Given the description of an element on the screen output the (x, y) to click on. 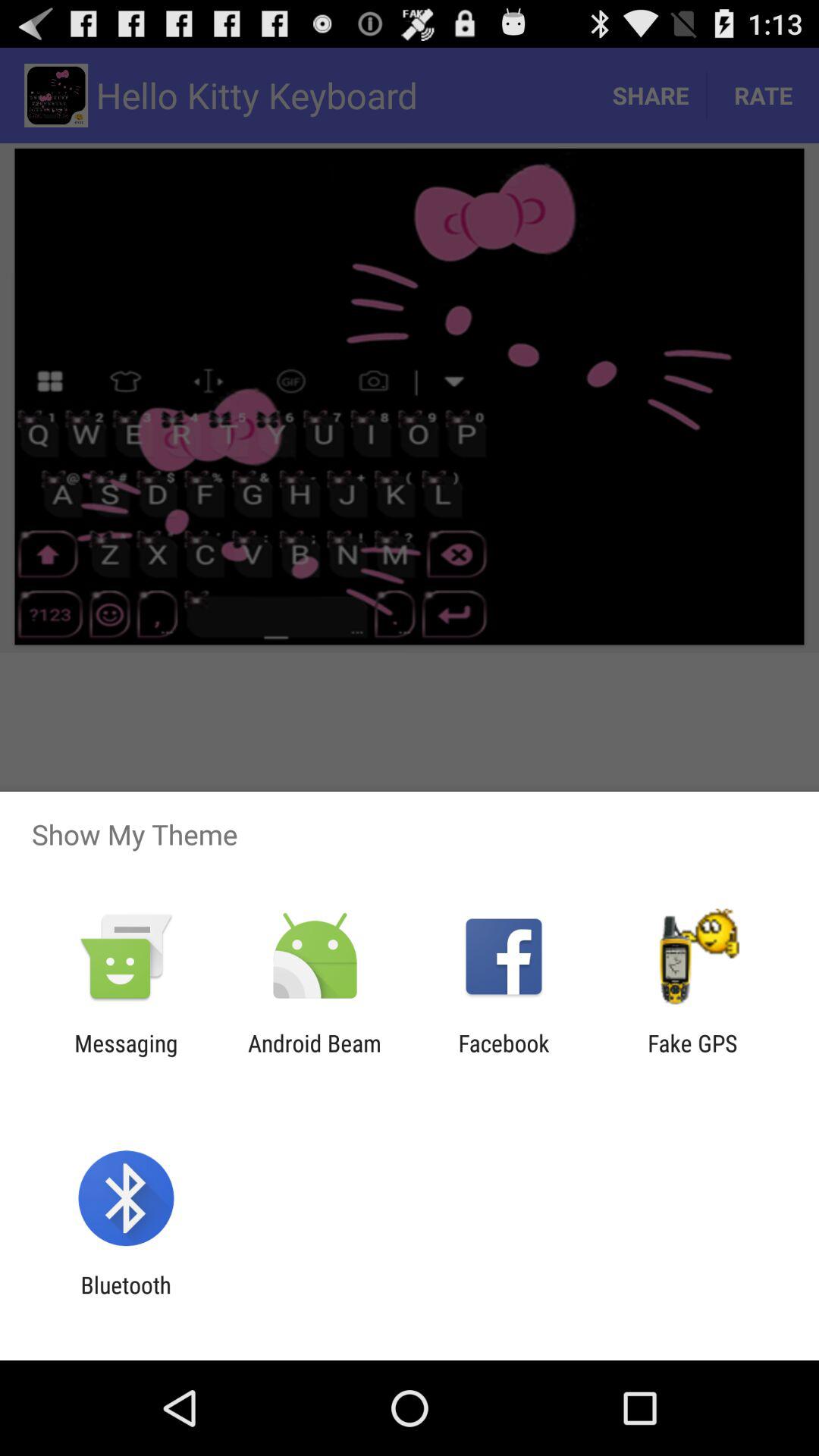
choose item next to the android beam app (503, 1056)
